Given the description of an element on the screen output the (x, y) to click on. 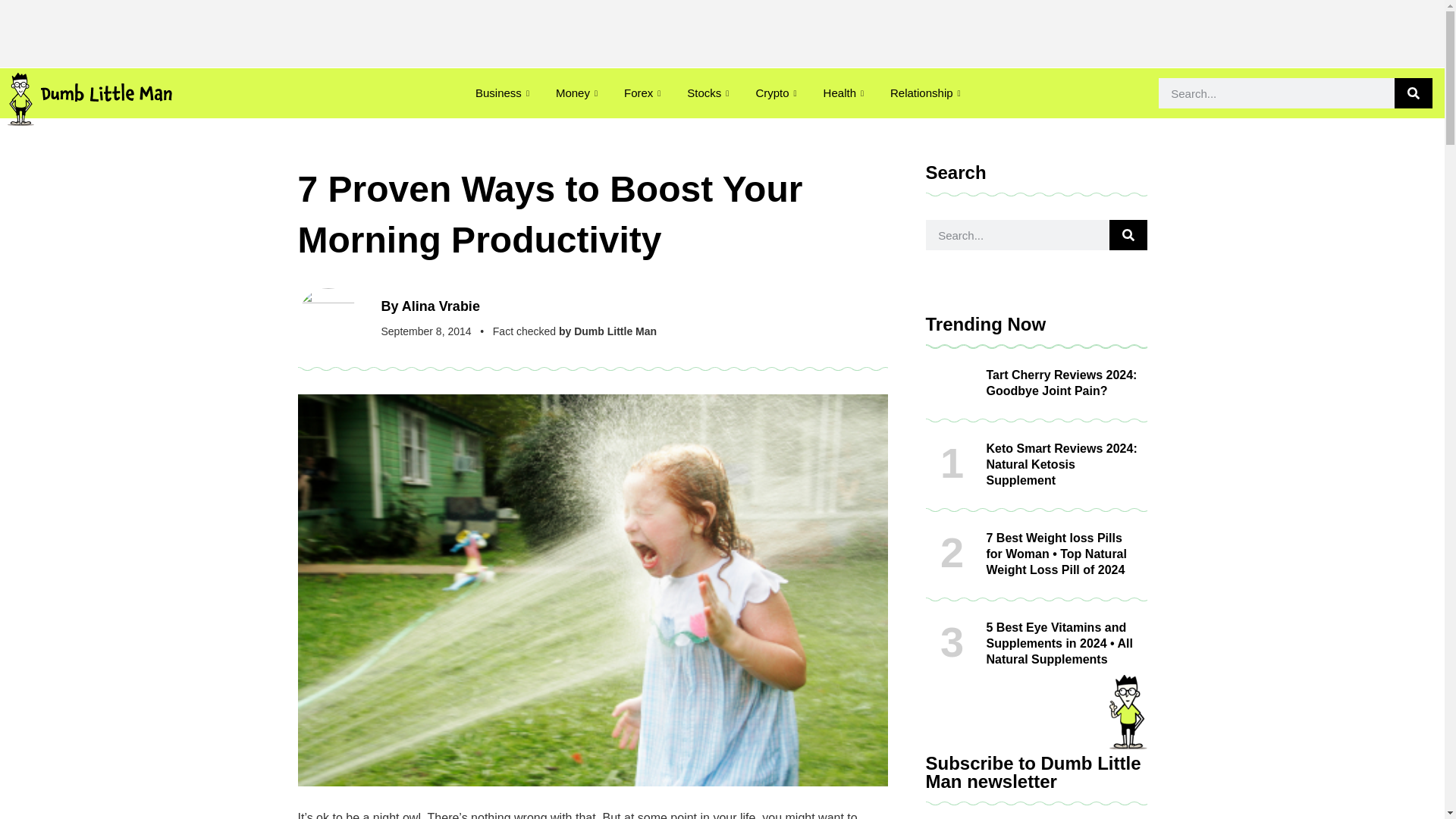
Business (504, 92)
